Given the description of an element on the screen output the (x, y) to click on. 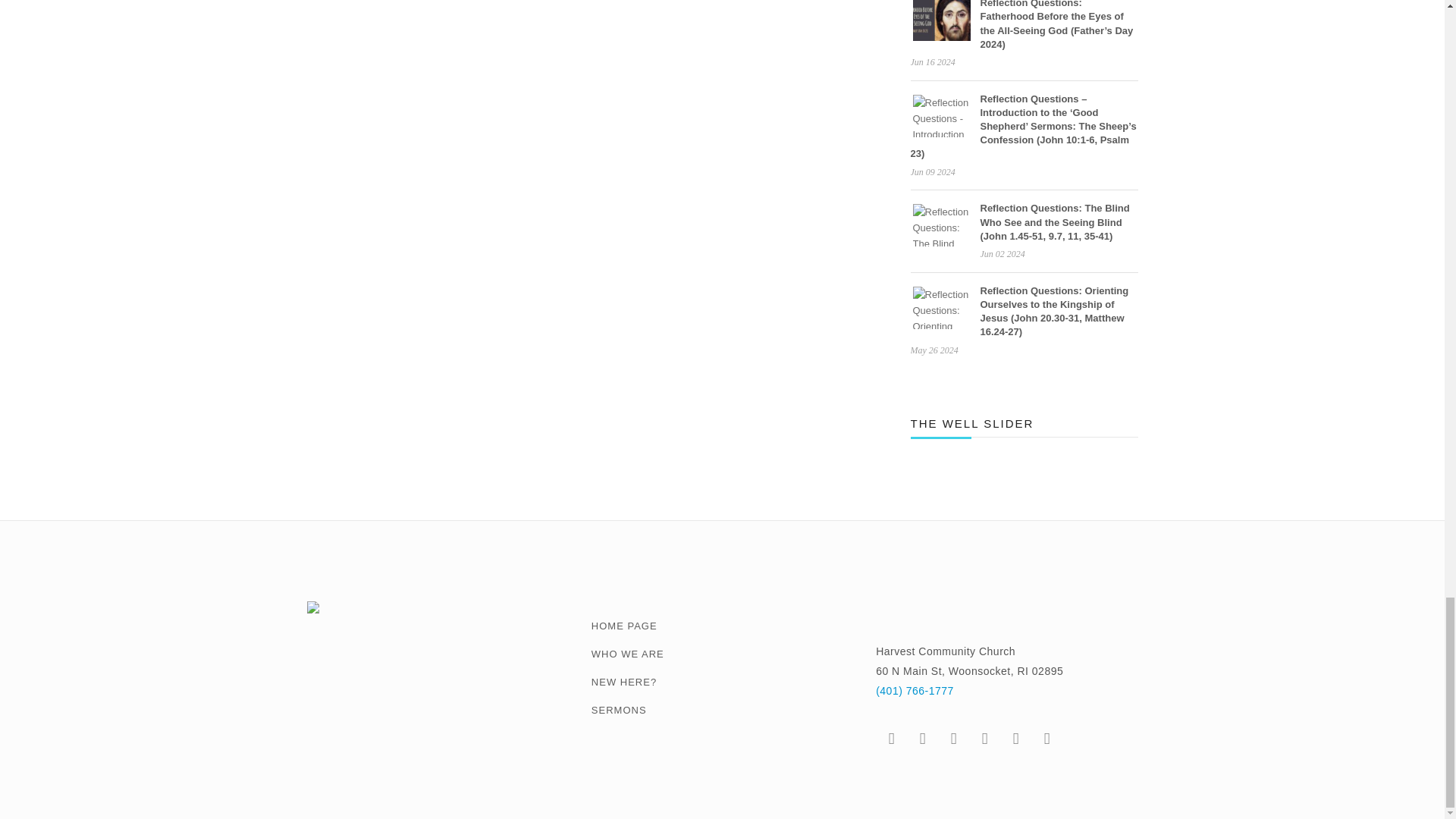
Call via Hangouts (914, 690)
